Given the description of an element on the screen output the (x, y) to click on. 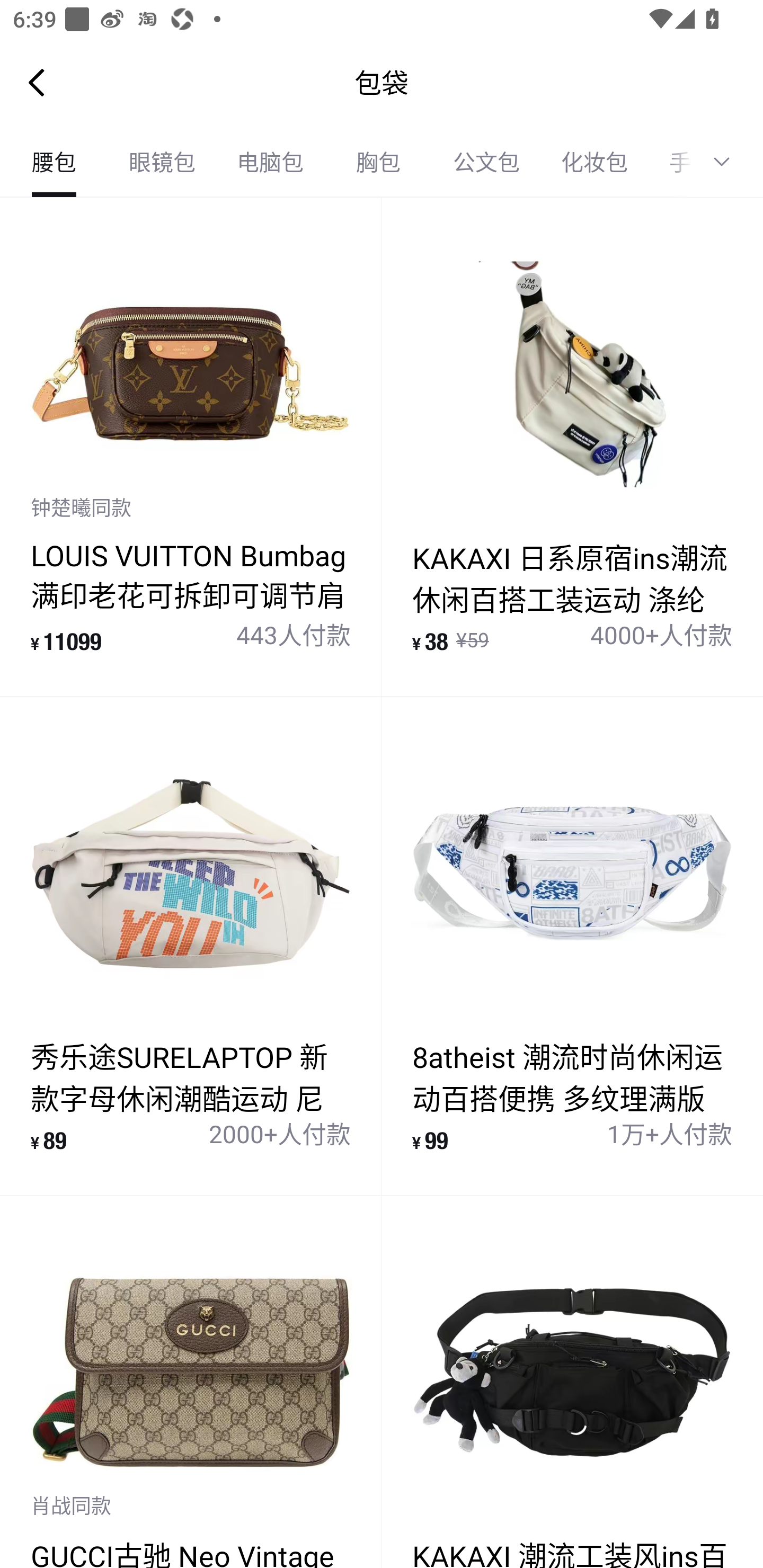
Navigate up (36, 82)
腰包 (54, 162)
眼镜包 (161, 162)
电脑包 (269, 162)
胸包 (378, 162)
公文包 (486, 162)
化妆包 (594, 162)
 (727, 162)
